Given the description of an element on the screen output the (x, y) to click on. 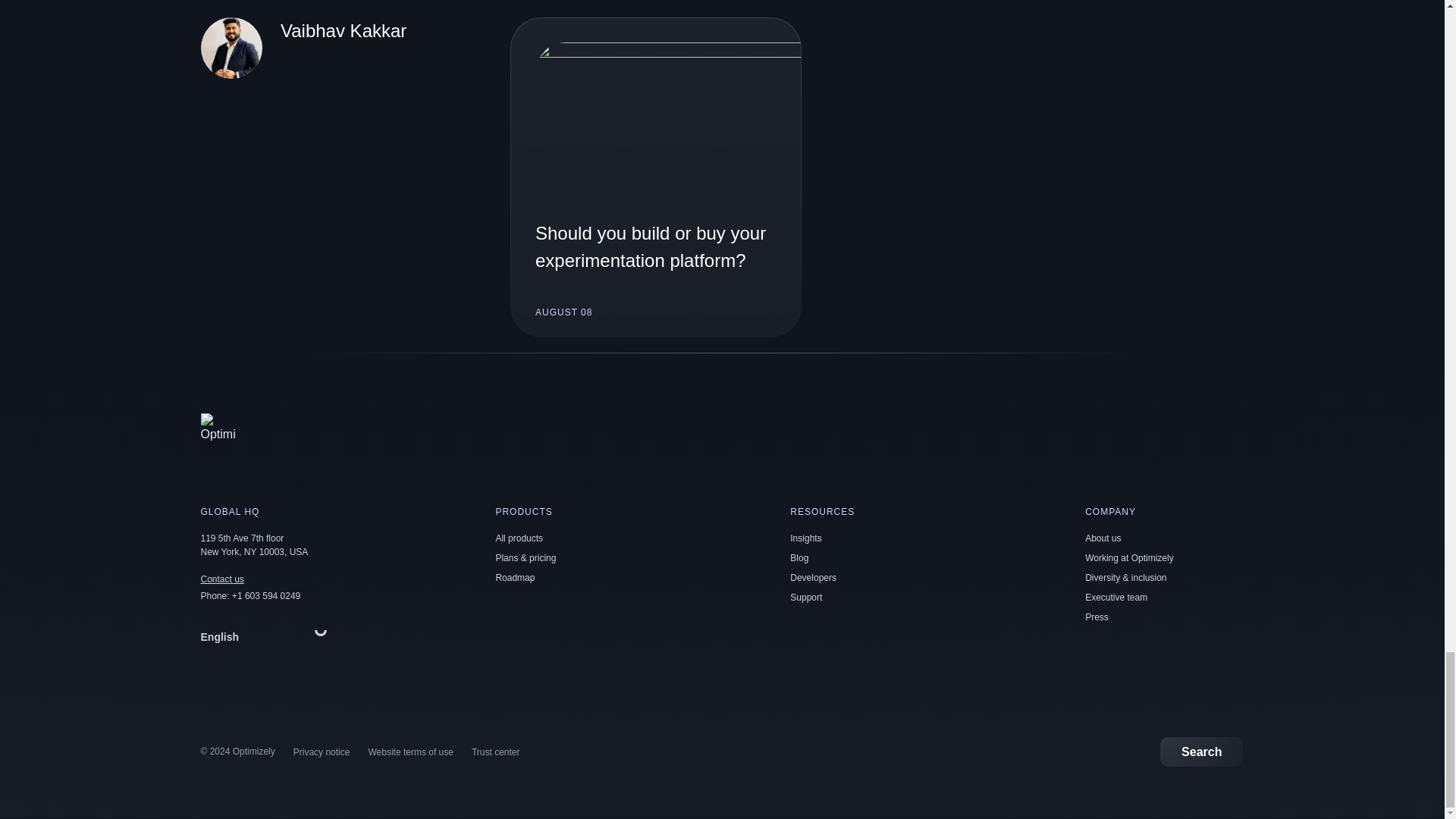
Contact us (221, 579)
All products (519, 538)
English (266, 636)
Privacy notice (322, 751)
Working at Optimizely (1128, 557)
About us (1102, 538)
Roadmap (514, 577)
Trust center (495, 751)
Website terms of use (410, 751)
Search (1200, 751)
